Given the description of an element on the screen output the (x, y) to click on. 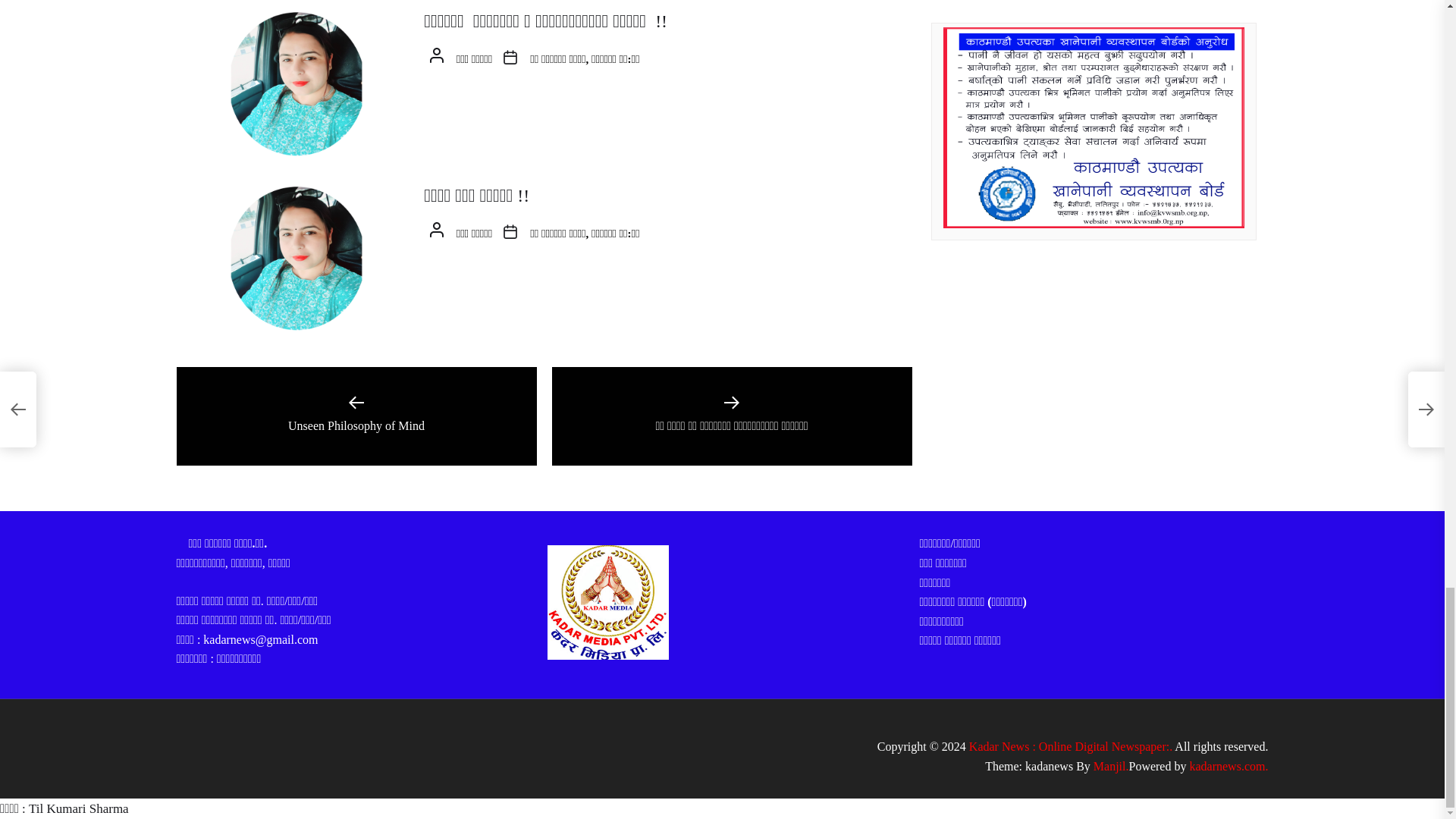
Manjil (1111, 766)
Kadar News : Online Digital Newspaper: (1070, 746)
kadarnews.com (1228, 766)
